Given the description of an element on the screen output the (x, y) to click on. 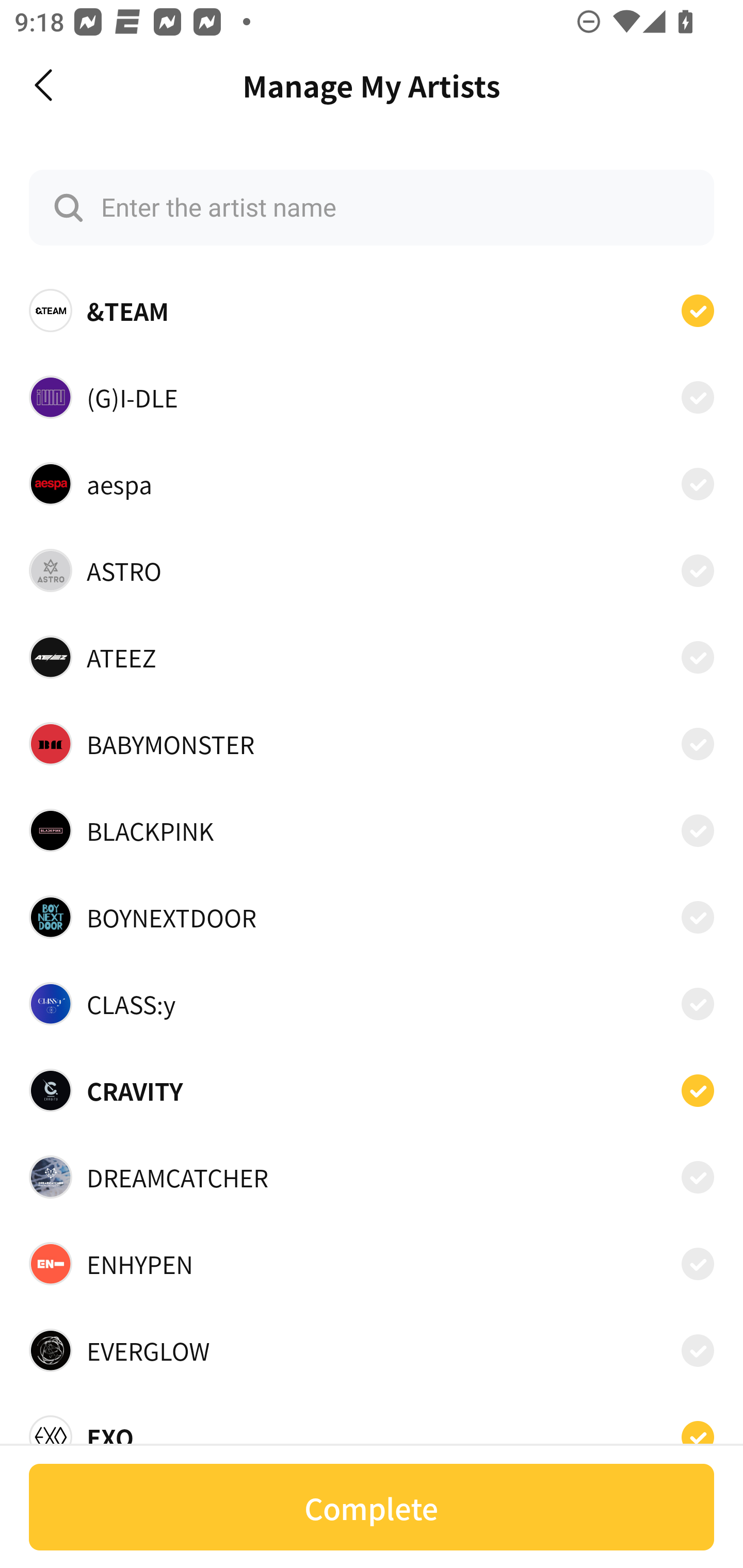
Enter the artist name (371, 207)
&TEAM (371, 310)
(G)I-DLE (371, 396)
aespa (371, 483)
ASTRO (371, 570)
ATEEZ (371, 656)
BABYMONSTER (371, 743)
BLACKPINK (371, 830)
BOYNEXTDOOR (371, 917)
CLASS:y (371, 1003)
CRAVITY (371, 1090)
DREAMCATCHER (371, 1176)
ENHYPEN (371, 1263)
EVERGLOW (371, 1350)
EXO (371, 1430)
Complete (371, 1507)
